Given the description of an element on the screen output the (x, y) to click on. 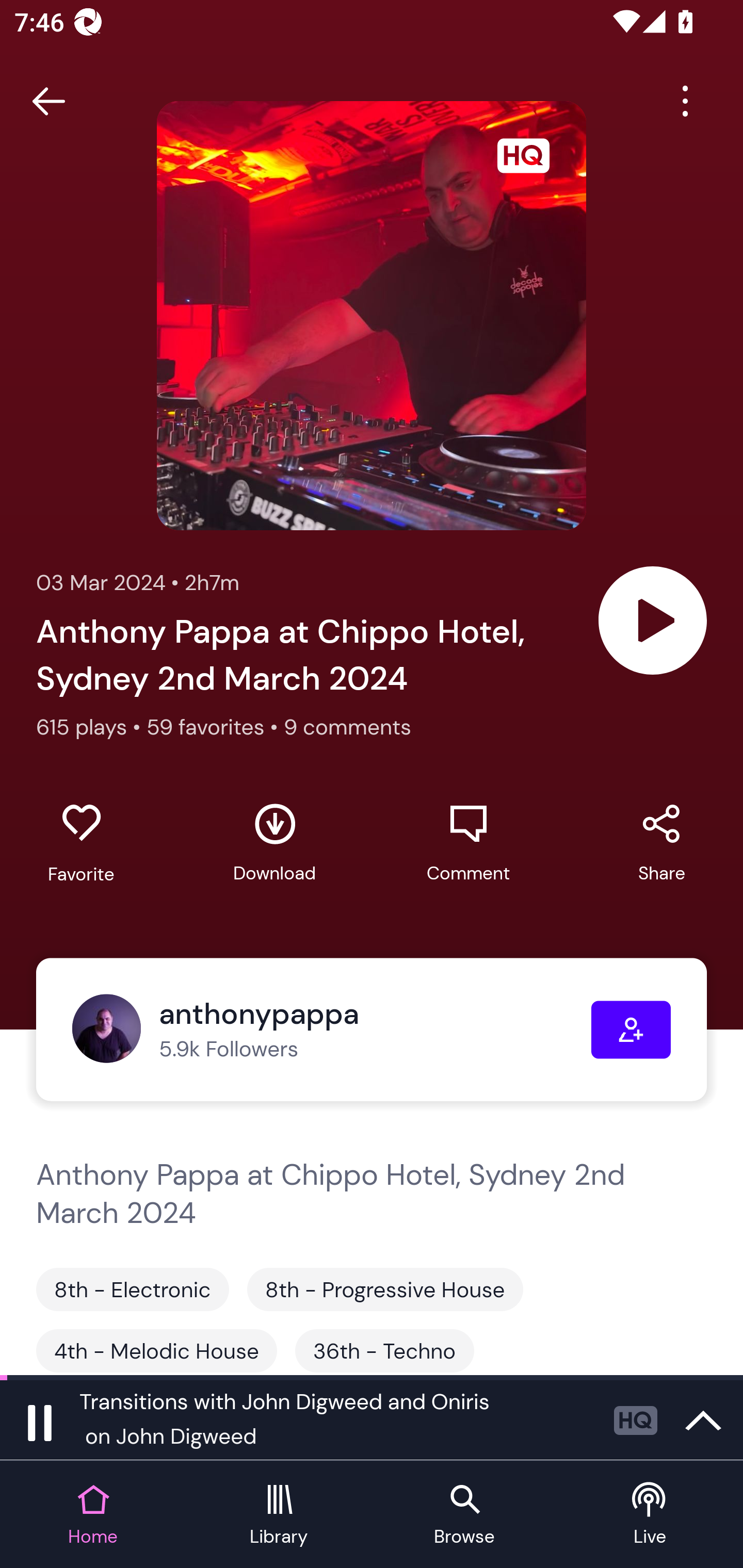
59 favorites •  (214, 726)
9 comments (346, 726)
Favorite (81, 843)
Download (274, 843)
Comment (467, 843)
Share (661, 843)
Follow (630, 1029)
8th - Electronic (132, 1289)
8th - Progressive House (385, 1289)
4th - Melodic House (156, 1350)
36th - Techno (384, 1350)
Home tab Home (92, 1515)
Library tab Library (278, 1515)
Browse tab Browse (464, 1515)
Live tab Live (650, 1515)
